Given the description of an element on the screen output the (x, y) to click on. 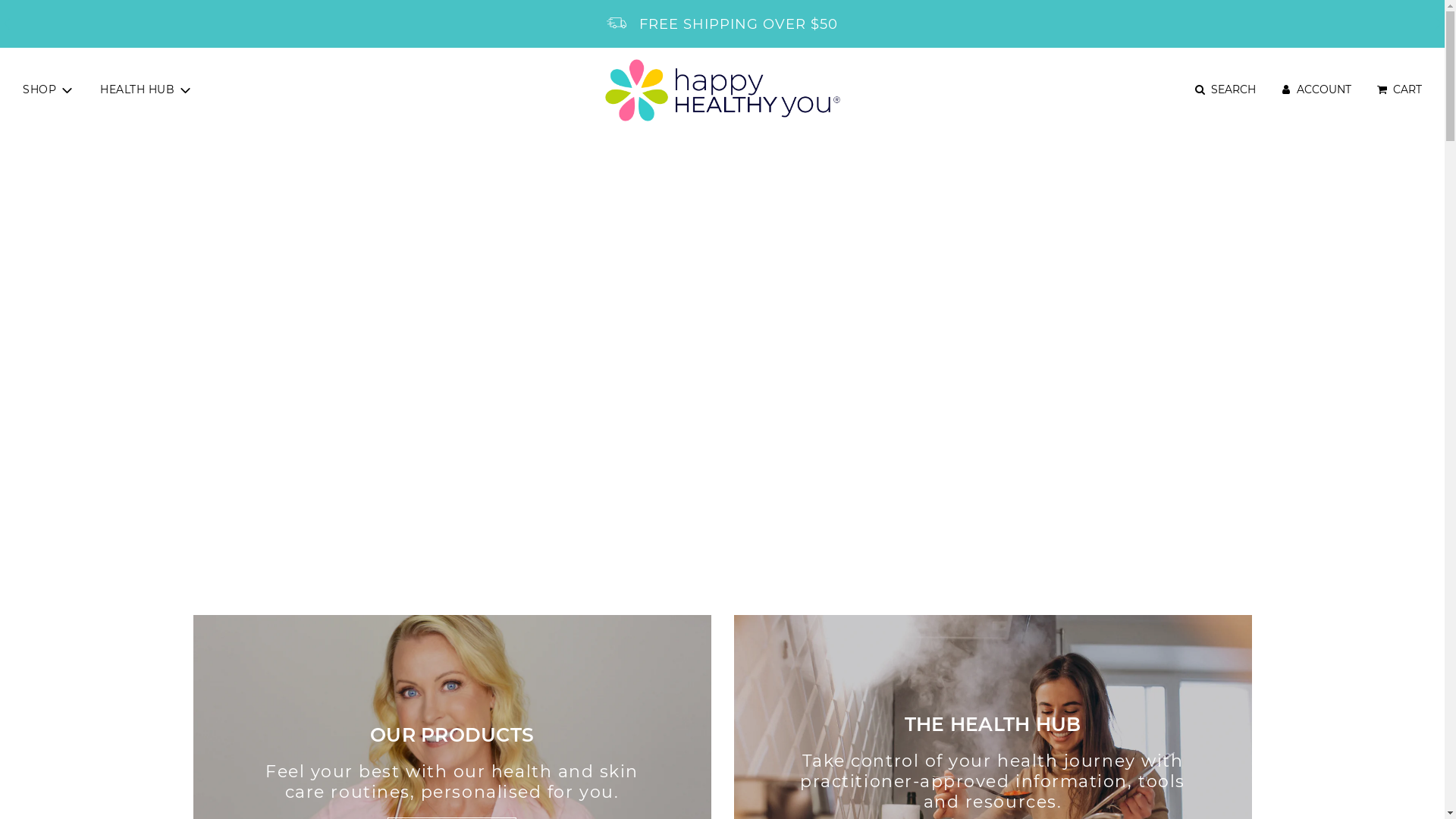
ACCOUNT Element type: text (1315, 89)
CART Element type: text (1397, 89)
SEARCH Element type: text (1223, 89)
HEALTH HUB Element type: text (146, 89)
SHOP Element type: text (48, 89)
